Given the description of an element on the screen output the (x, y) to click on. 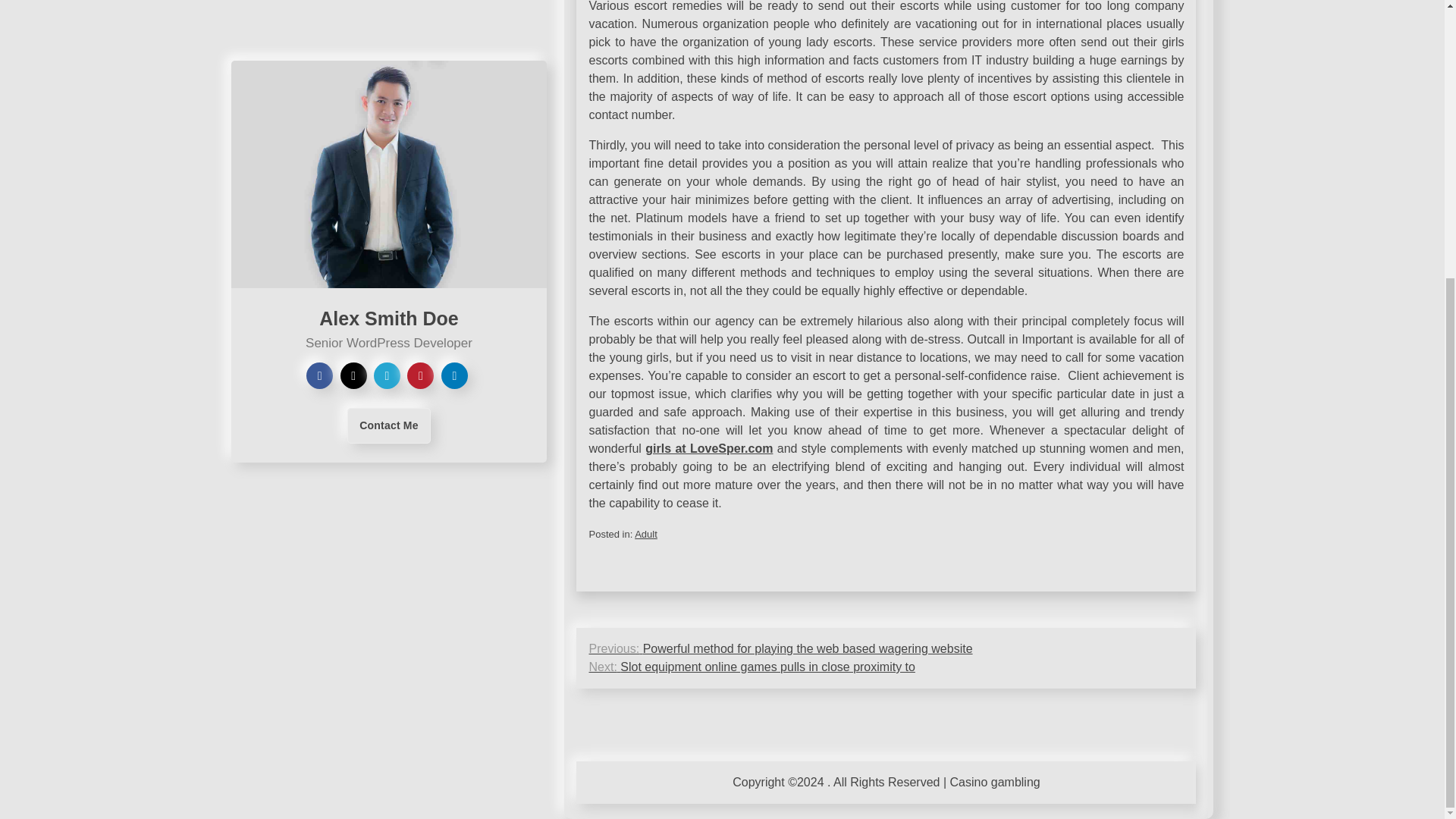
Adult (646, 533)
Contact Me (388, 15)
girls at LoveSper.com (709, 448)
